Given the description of an element on the screen output the (x, y) to click on. 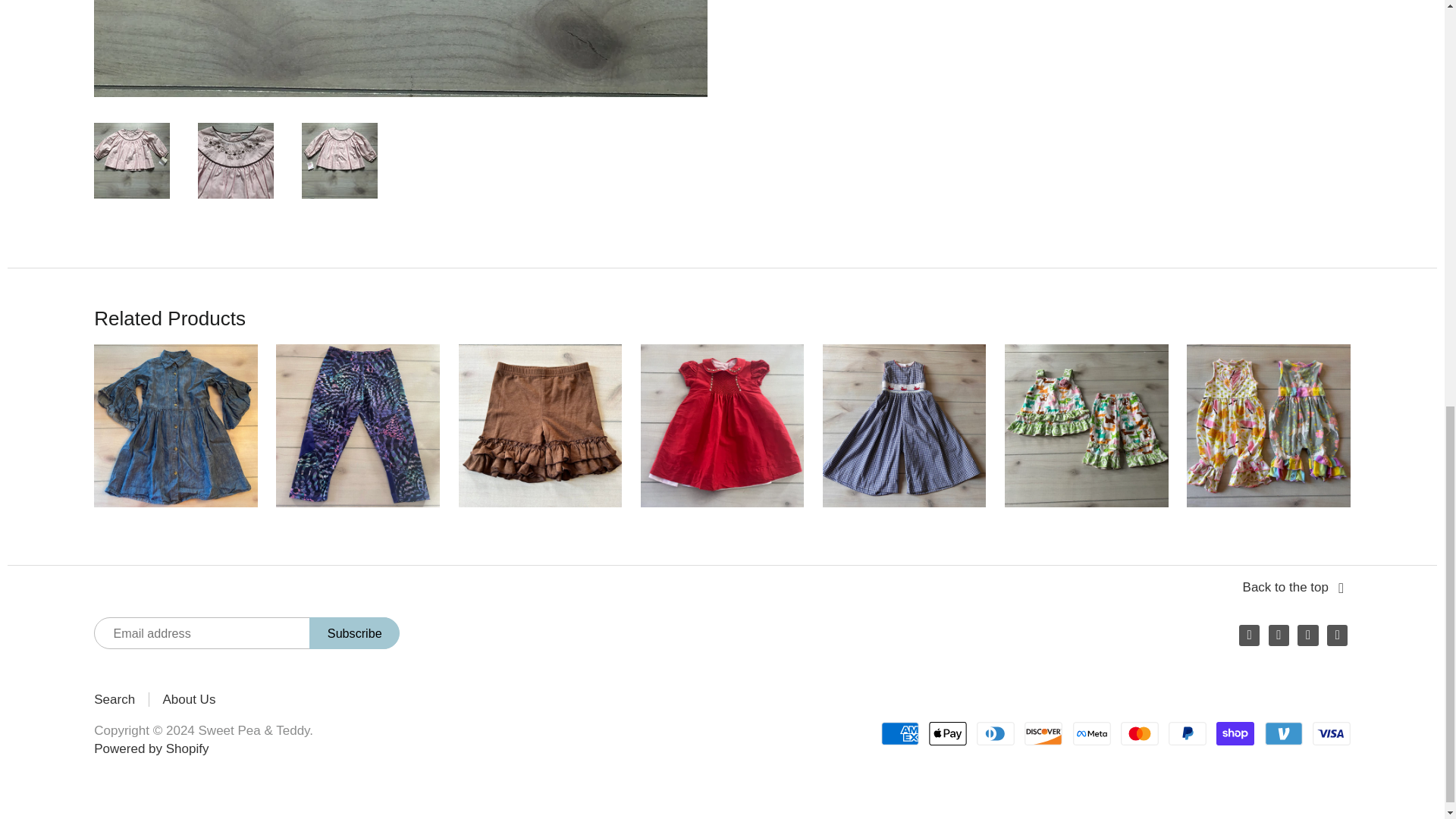
A.T.U.N. Denim Bell Sleeve Dress (175, 424)
Subscribe (353, 633)
Adorable Essentials Brown Ruffle Shorts (539, 424)
Anavini Smocked Sailboat Romper (903, 424)
